Given the description of an element on the screen output the (x, y) to click on. 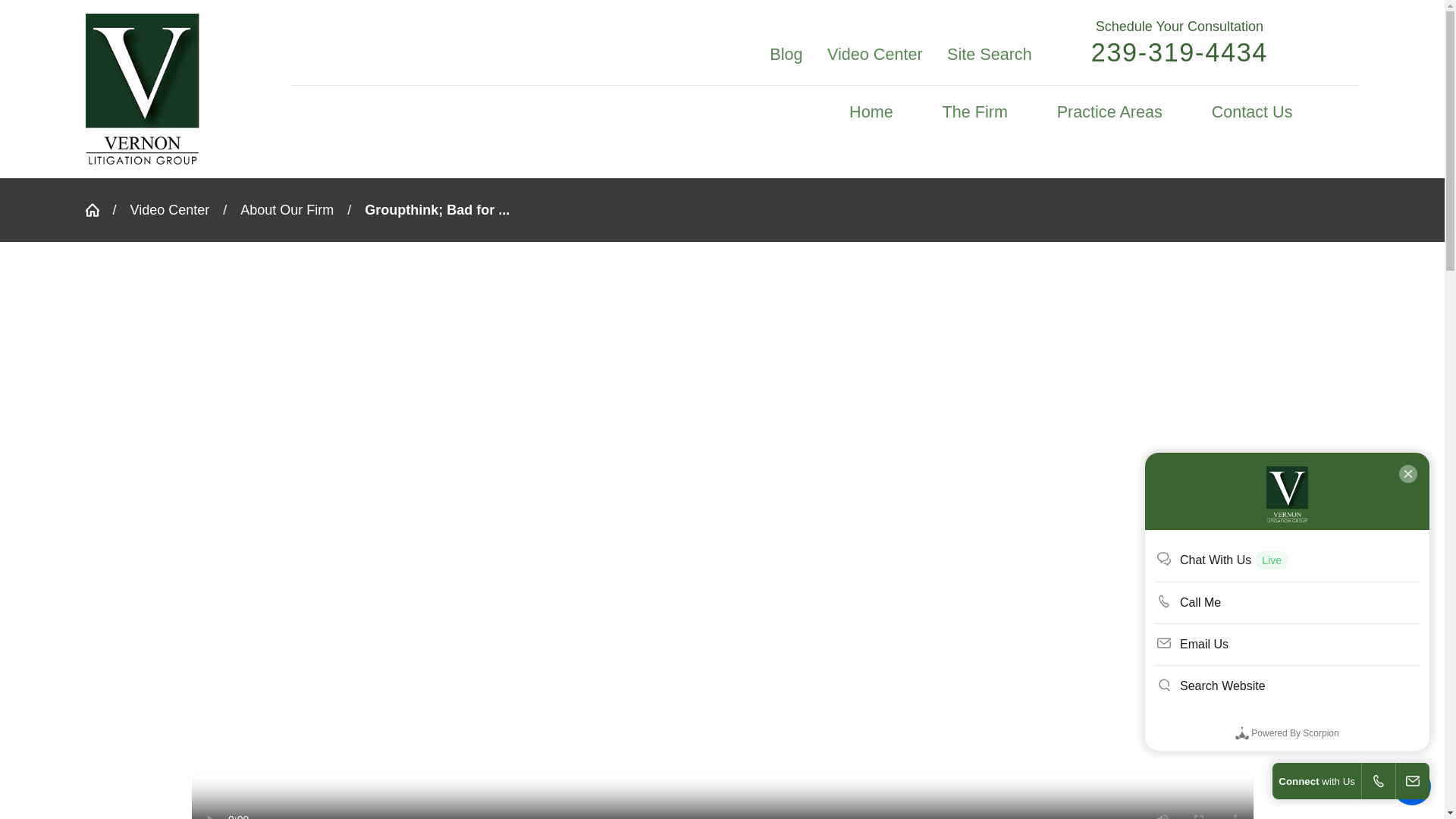
The Firm (974, 111)
Go Home (98, 210)
Contact Us (1251, 111)
Practice Areas (1109, 111)
Open the accessibility options menu (1412, 786)
Blog (786, 54)
Video Center (875, 54)
Site Search (989, 54)
239-319-4434 (1179, 51)
